Given the description of an element on the screen output the (x, y) to click on. 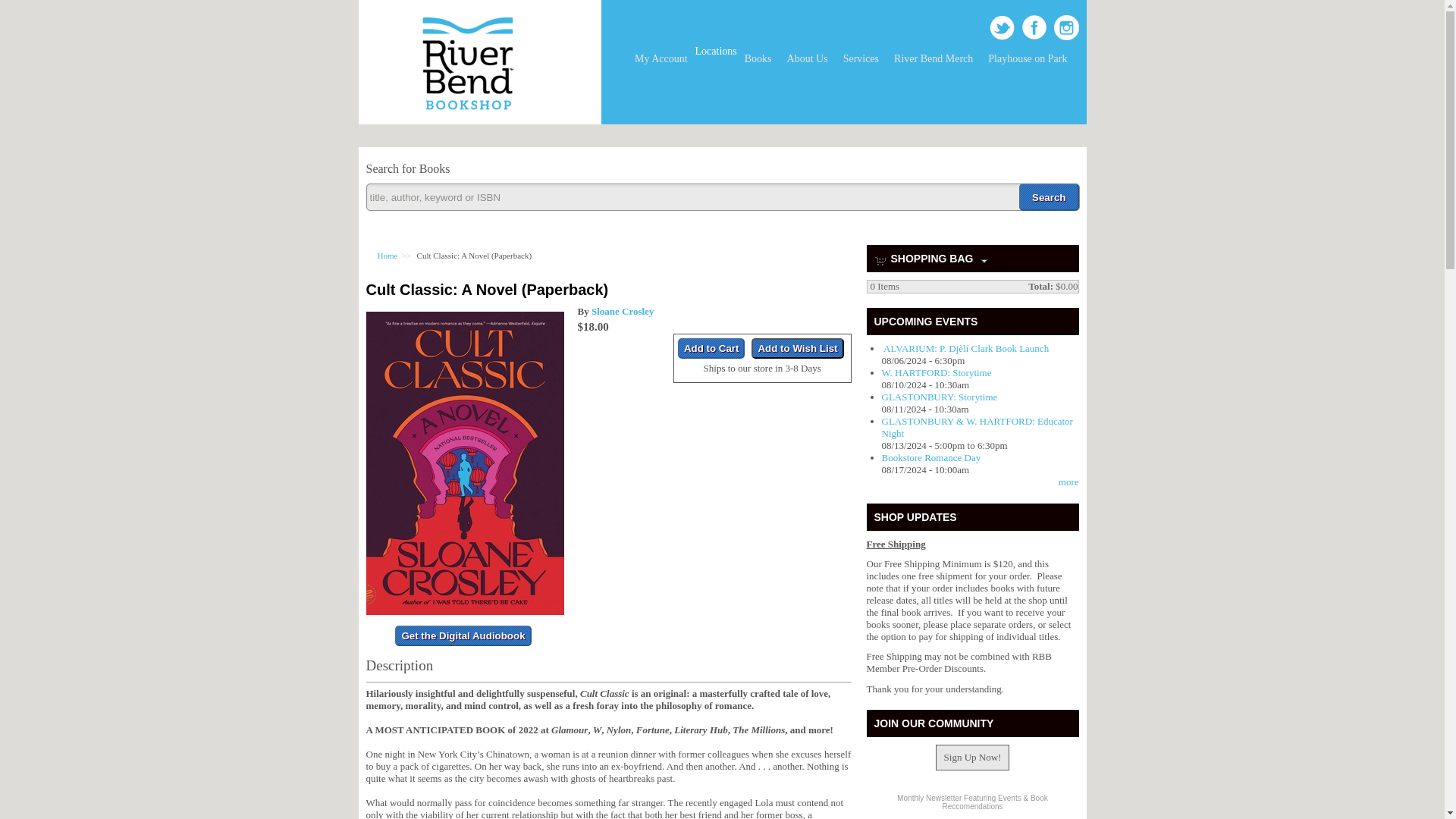
My Account (661, 58)
View your shopping cart. (879, 259)
Books (757, 58)
Add to Cart (711, 348)
Enter the terms you wish to search for. (721, 196)
Services (860, 58)
About Us (806, 58)
Home (467, 117)
Get the Digital Audiobook (462, 635)
